Given the description of an element on the screen output the (x, y) to click on. 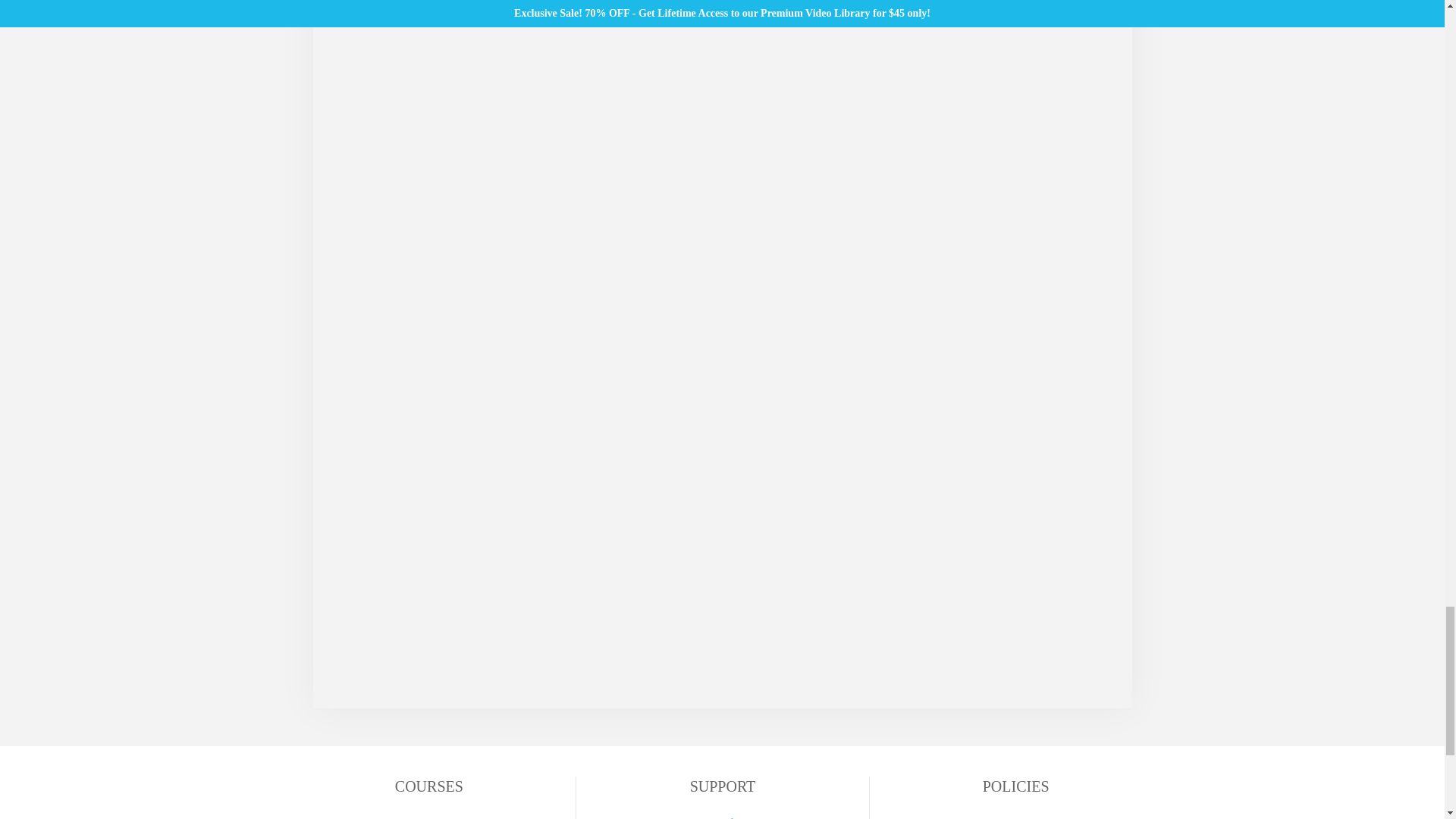
Privacy Policy (1015, 815)
Try us free (722, 815)
USMLE Step 1 (428, 815)
